Given the description of an element on the screen output the (x, y) to click on. 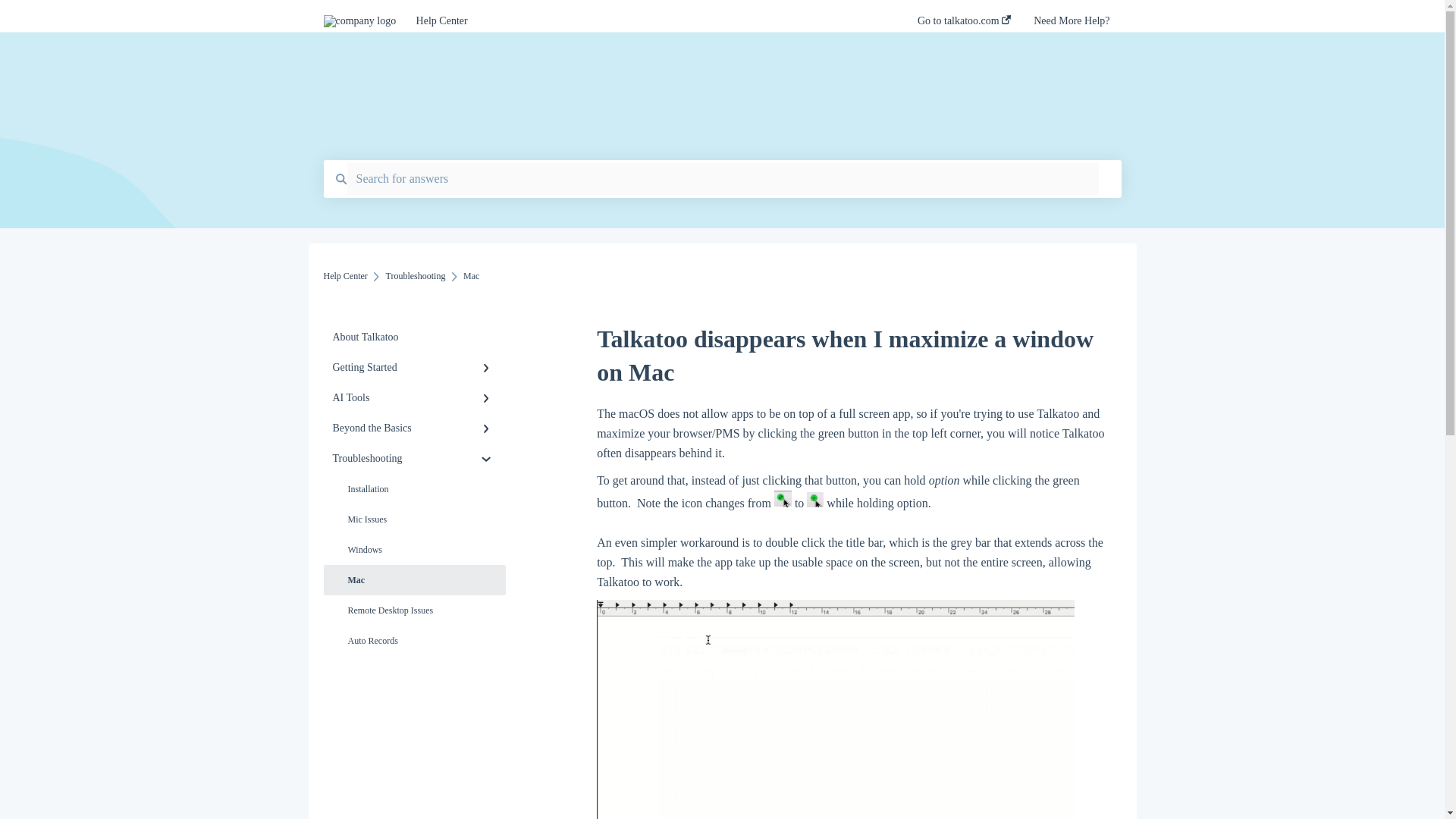
Installation (414, 489)
Troubleshooting (414, 458)
Go to talkatoo.com (963, 25)
Troubleshooting (415, 276)
Help Center (344, 276)
Getting Started (414, 367)
About Talkatoo (414, 337)
AI Tools (414, 398)
Mic Issues (414, 519)
Need More Help? (1071, 25)
Beyond the Basics (414, 428)
Help Center (644, 21)
